Given the description of an element on the screen output the (x, y) to click on. 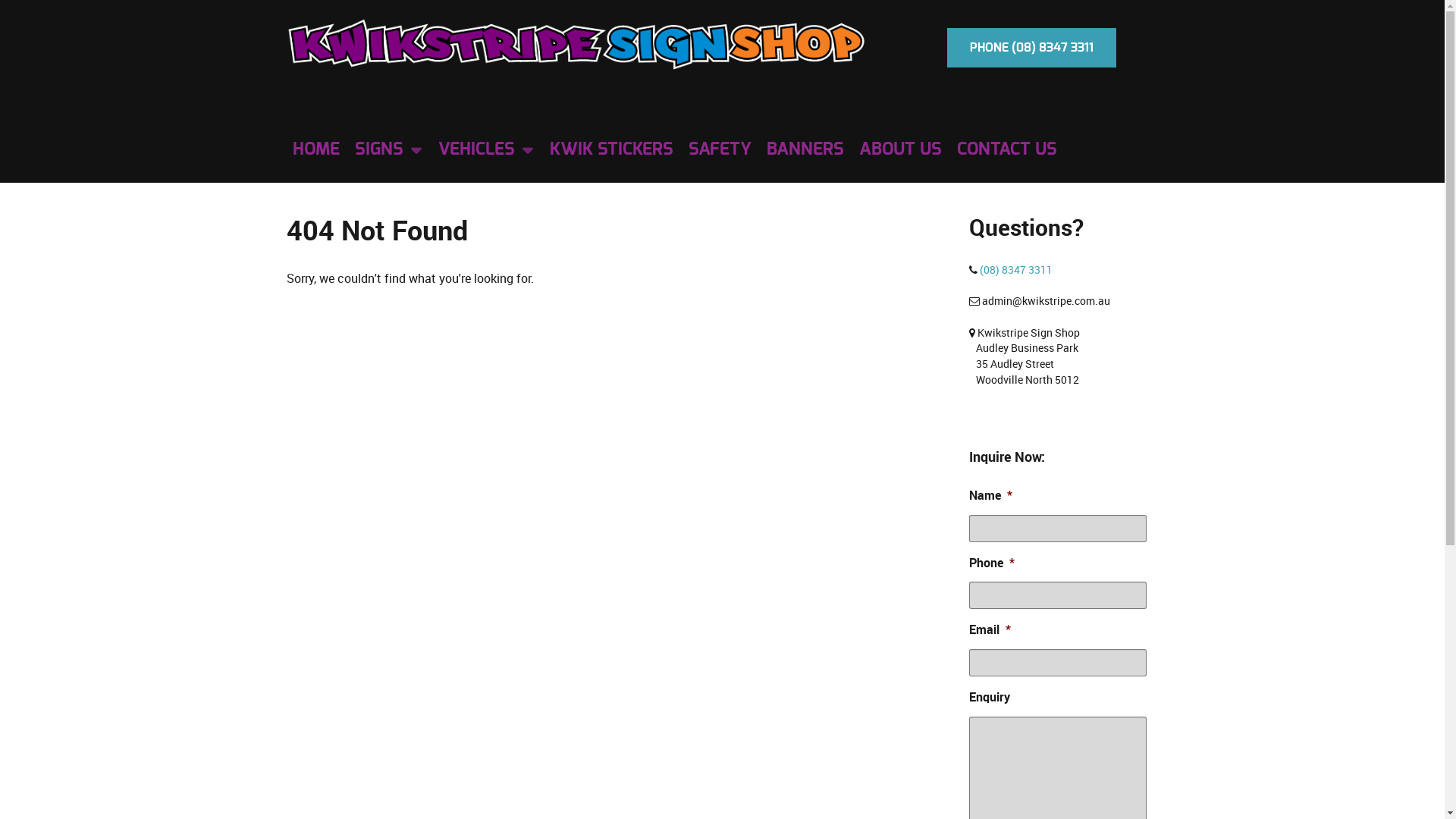
Kwikstripe Sign Shop Adelaide Element type: hover (576, 43)
KWIK STICKERS Element type: text (610, 149)
SIGNS Element type: text (388, 149)
CONTACT US Element type: text (1007, 149)
VEHICLES Element type: text (486, 149)
BANNERS Element type: text (804, 149)
(08) 8347 3311 Element type: text (1015, 269)
PHONE (08) 8347 3311 Element type: text (1031, 47)
SAFETY Element type: text (719, 149)
HOME Element type: text (315, 149)
ABOUT US Element type: text (899, 149)
